Given the description of an element on the screen output the (x, y) to click on. 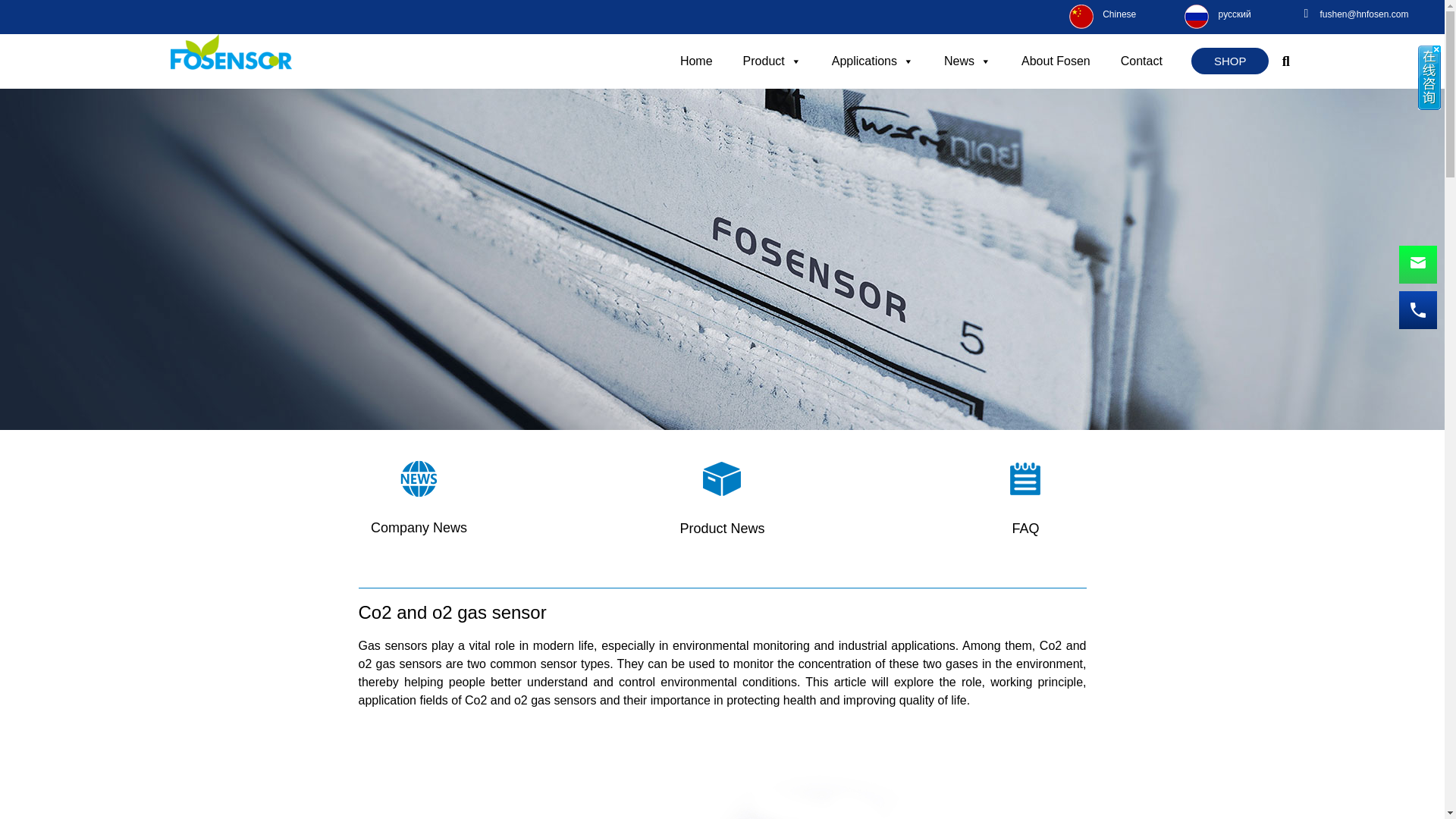
Chinese (1118, 14)
Applications (872, 61)
Product (772, 61)
Home (696, 61)
logo2 (231, 61)
